Given the description of an element on the screen output the (x, y) to click on. 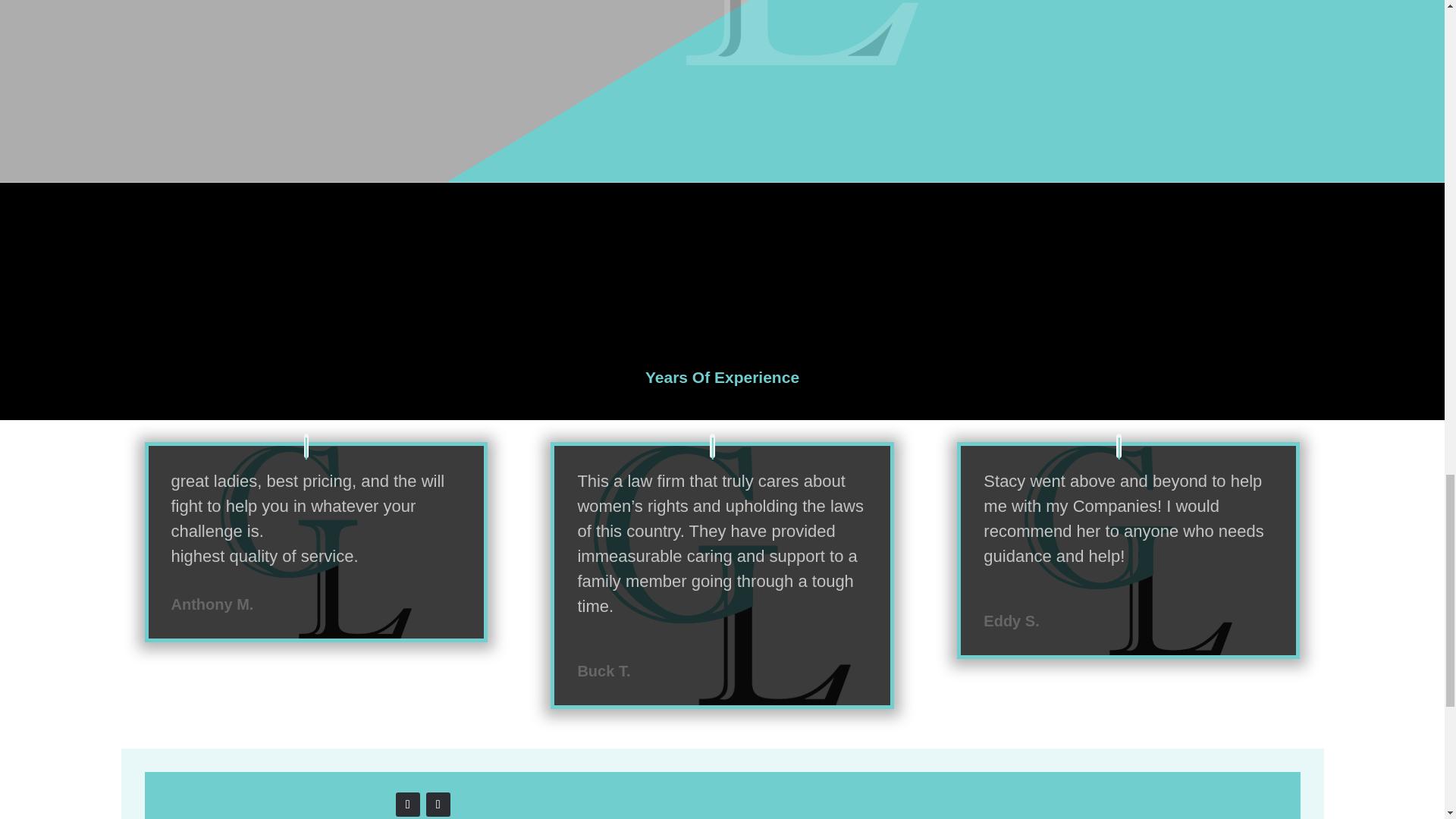
Follow on LinkedIn (437, 804)
Follow on Facebook (408, 804)
